Given the description of an element on the screen output the (x, y) to click on. 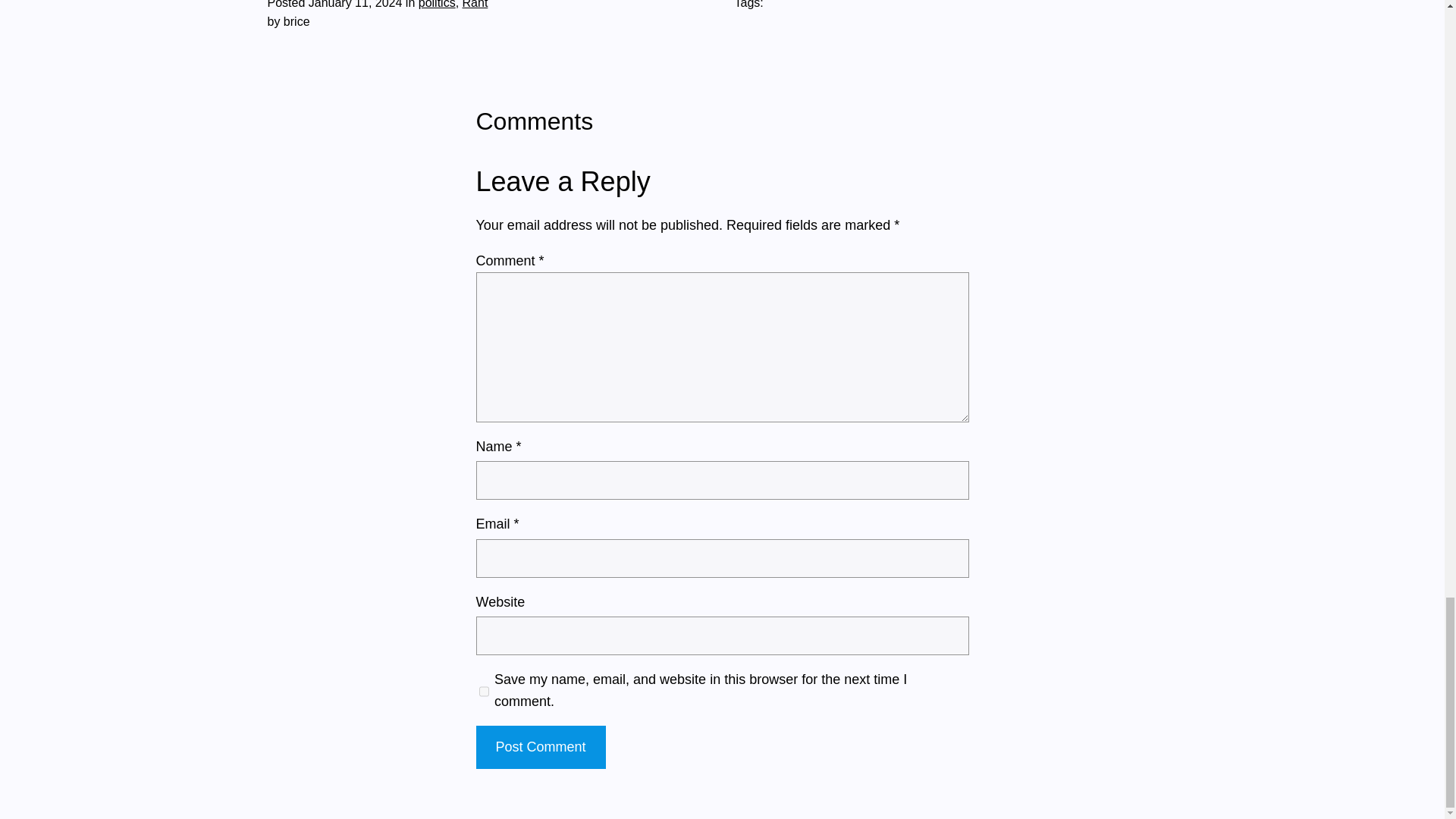
Post Comment (540, 747)
yes (484, 691)
Rant (475, 4)
politics (437, 4)
Post Comment (540, 747)
